Given the description of an element on the screen output the (x, y) to click on. 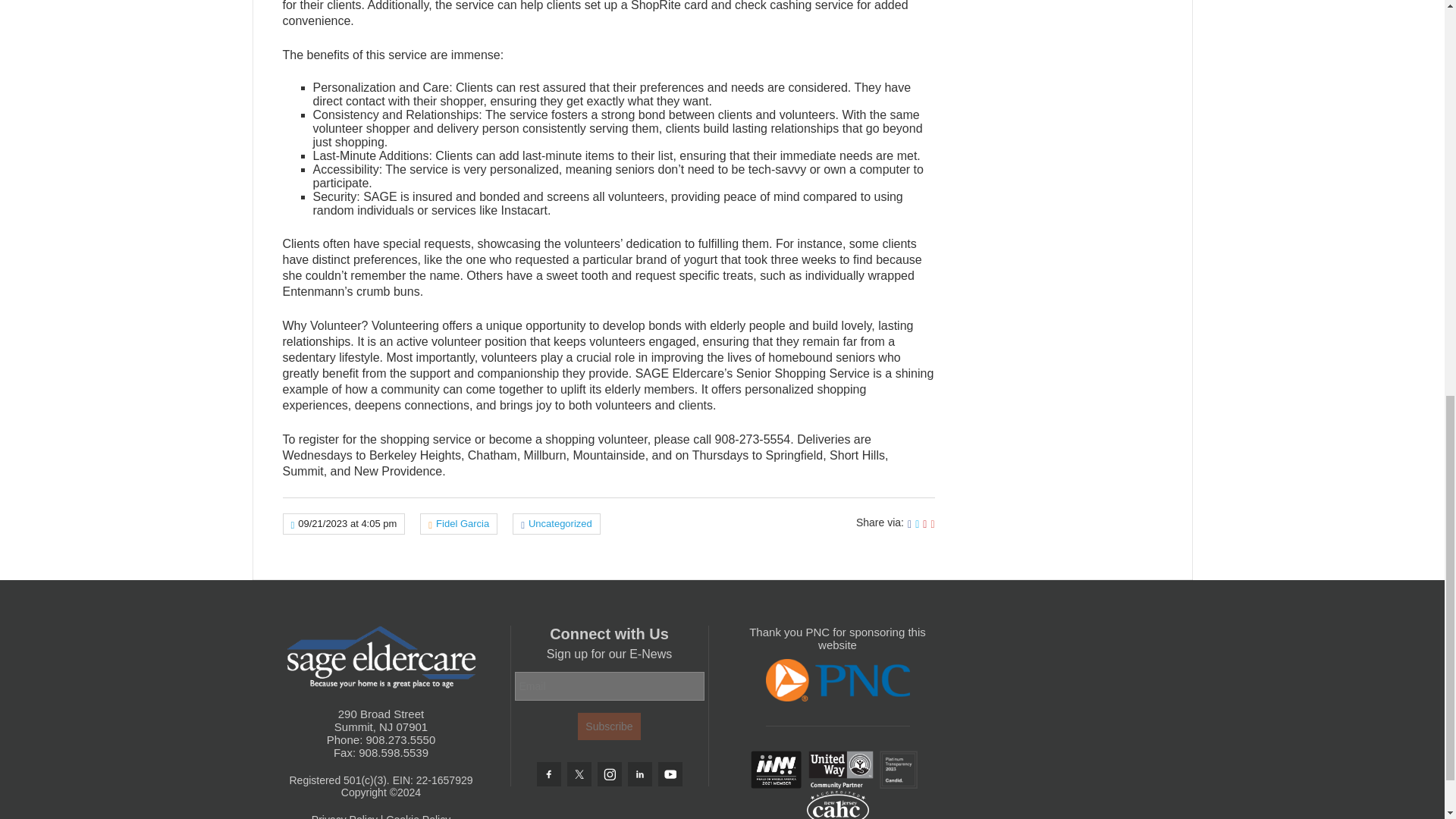
Subscribe (609, 726)
